Given the description of an element on the screen output the (x, y) to click on. 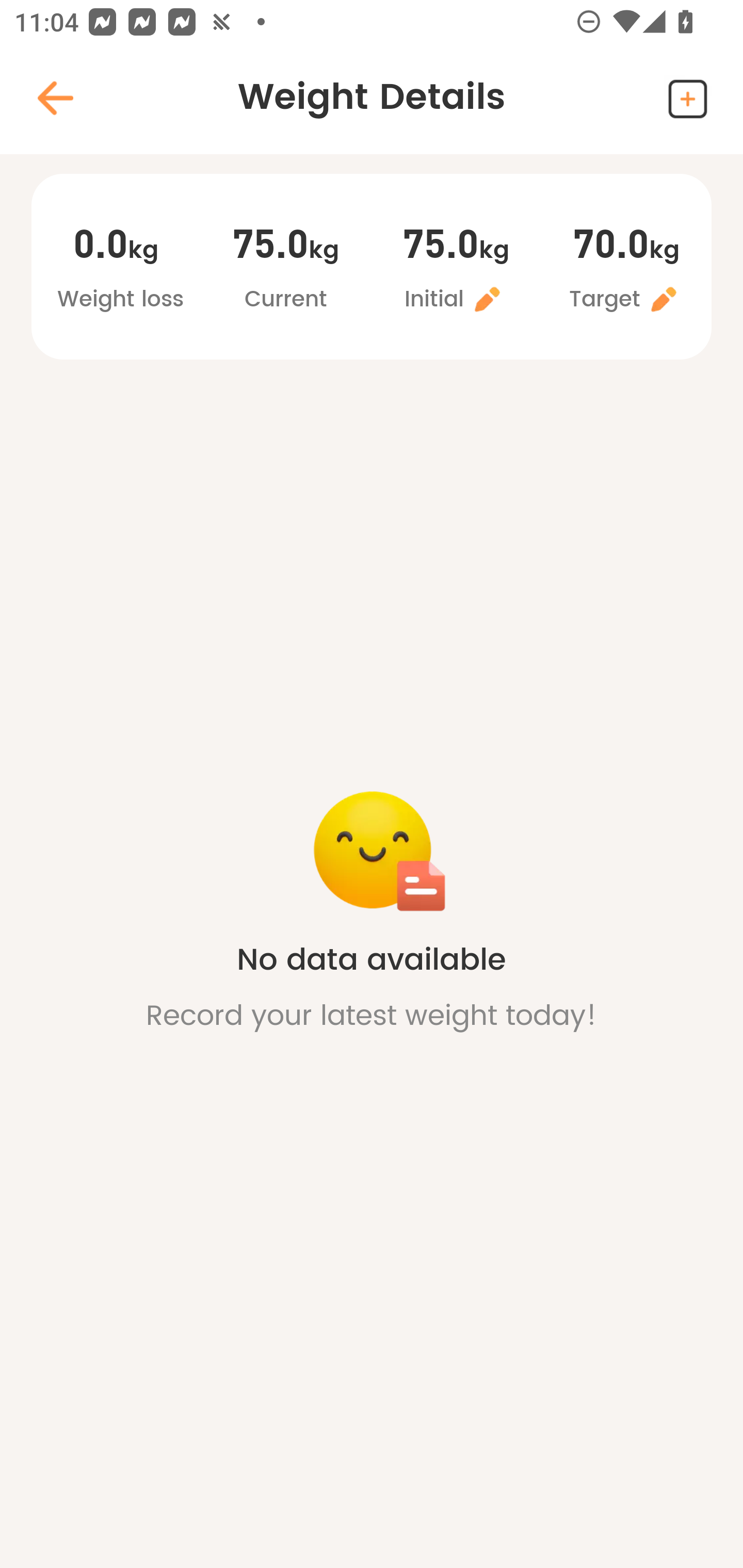
75.0kg Initial (455, 268)
70.0kg Target (625, 268)
